Given the description of an element on the screen output the (x, y) to click on. 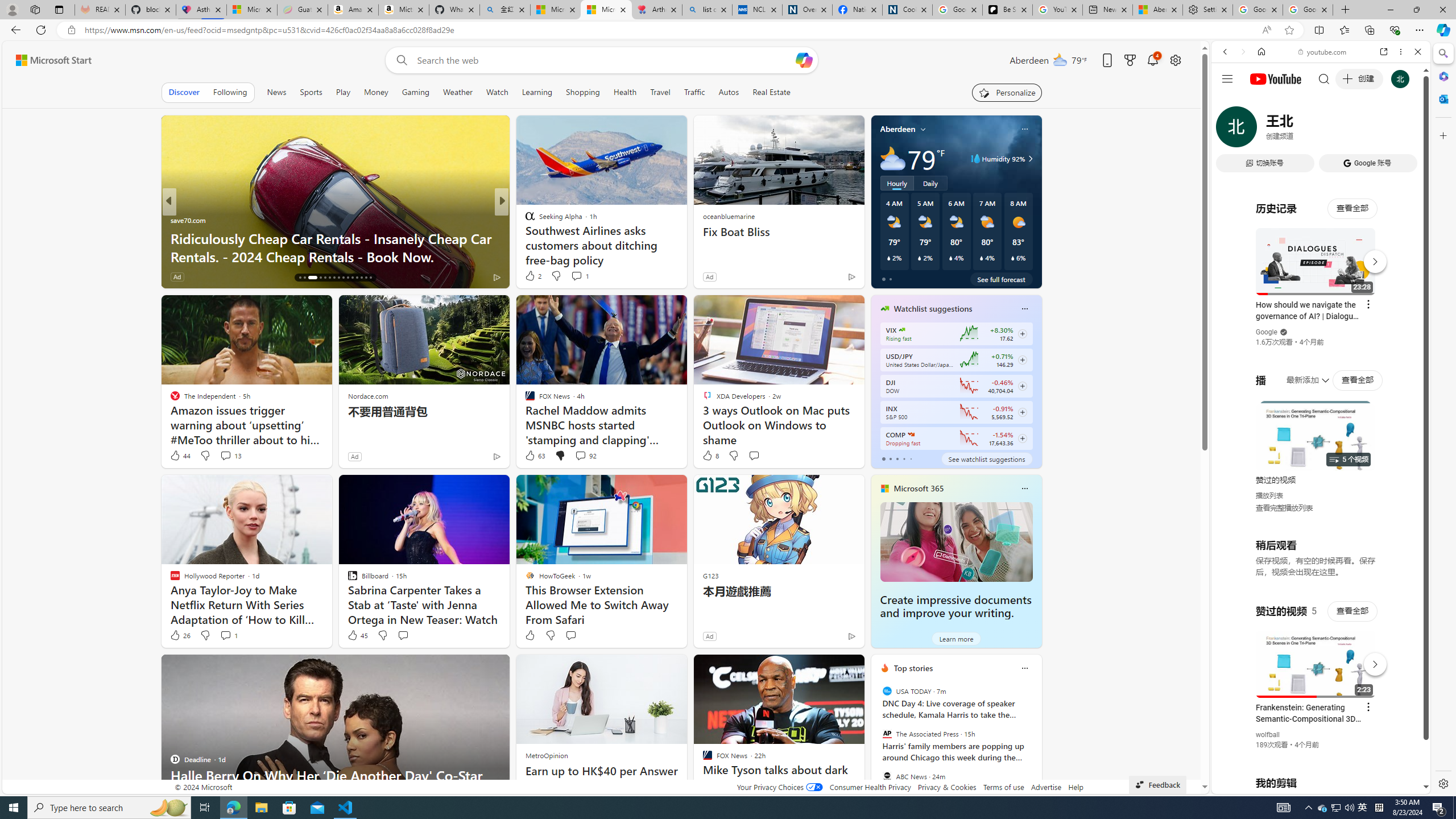
Following (229, 92)
63 Like (534, 455)
you (1315, 755)
Travel (660, 92)
The Independent (524, 219)
Microsoft Start (606, 9)
Microsoft 365 (1442, 76)
Music (1320, 309)
NCL Adult Asthma Inhaler Choice Guideline (757, 9)
